Given the description of an element on the screen output the (x, y) to click on. 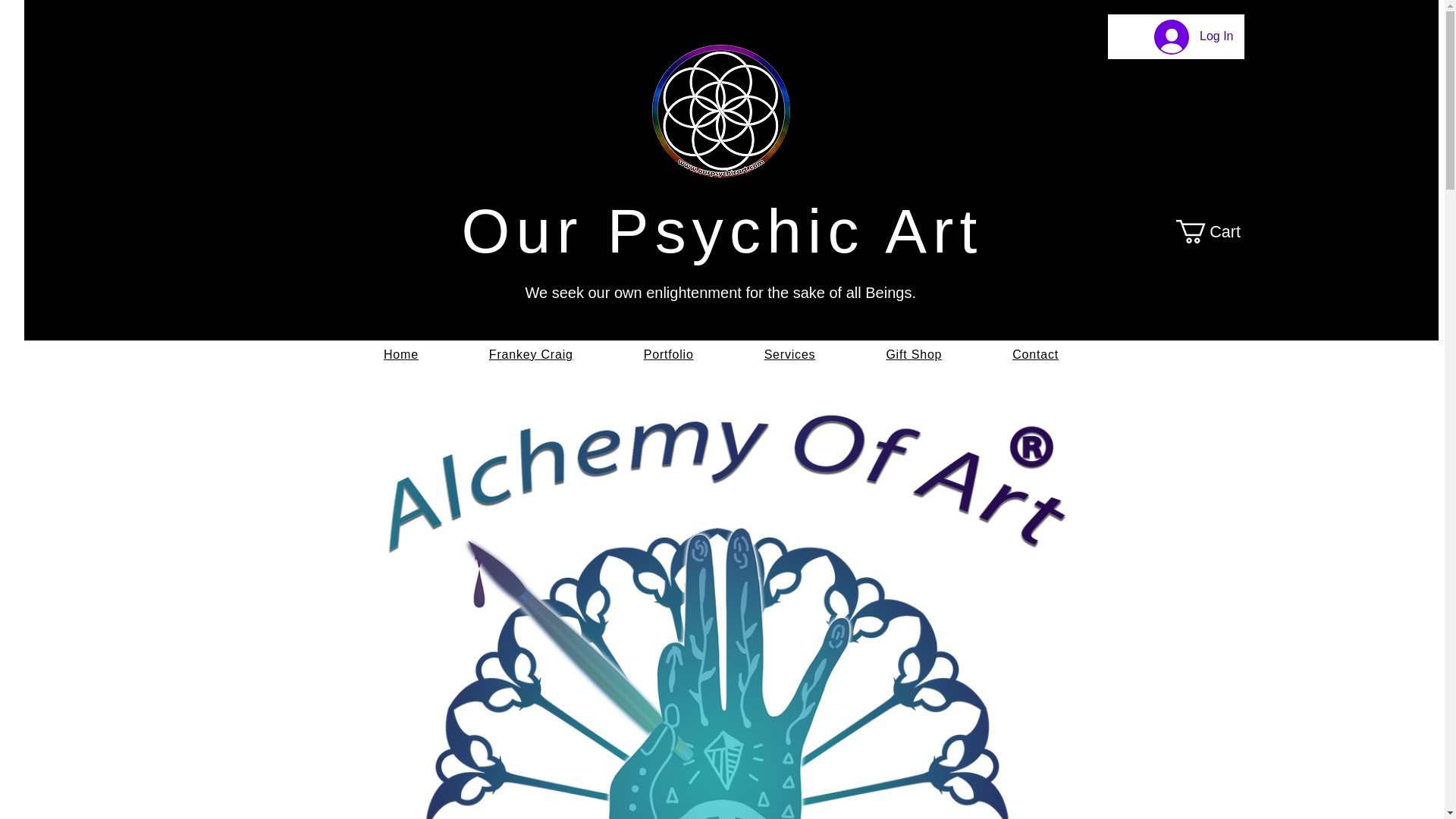
Frankey Craig (531, 354)
Portfolio (668, 354)
Gift Shop (913, 354)
Home (401, 354)
Cart (1220, 231)
Cart (1220, 231)
Services (789, 354)
Contact (1034, 354)
Log In (1192, 36)
